Given the description of an element on the screen output the (x, y) to click on. 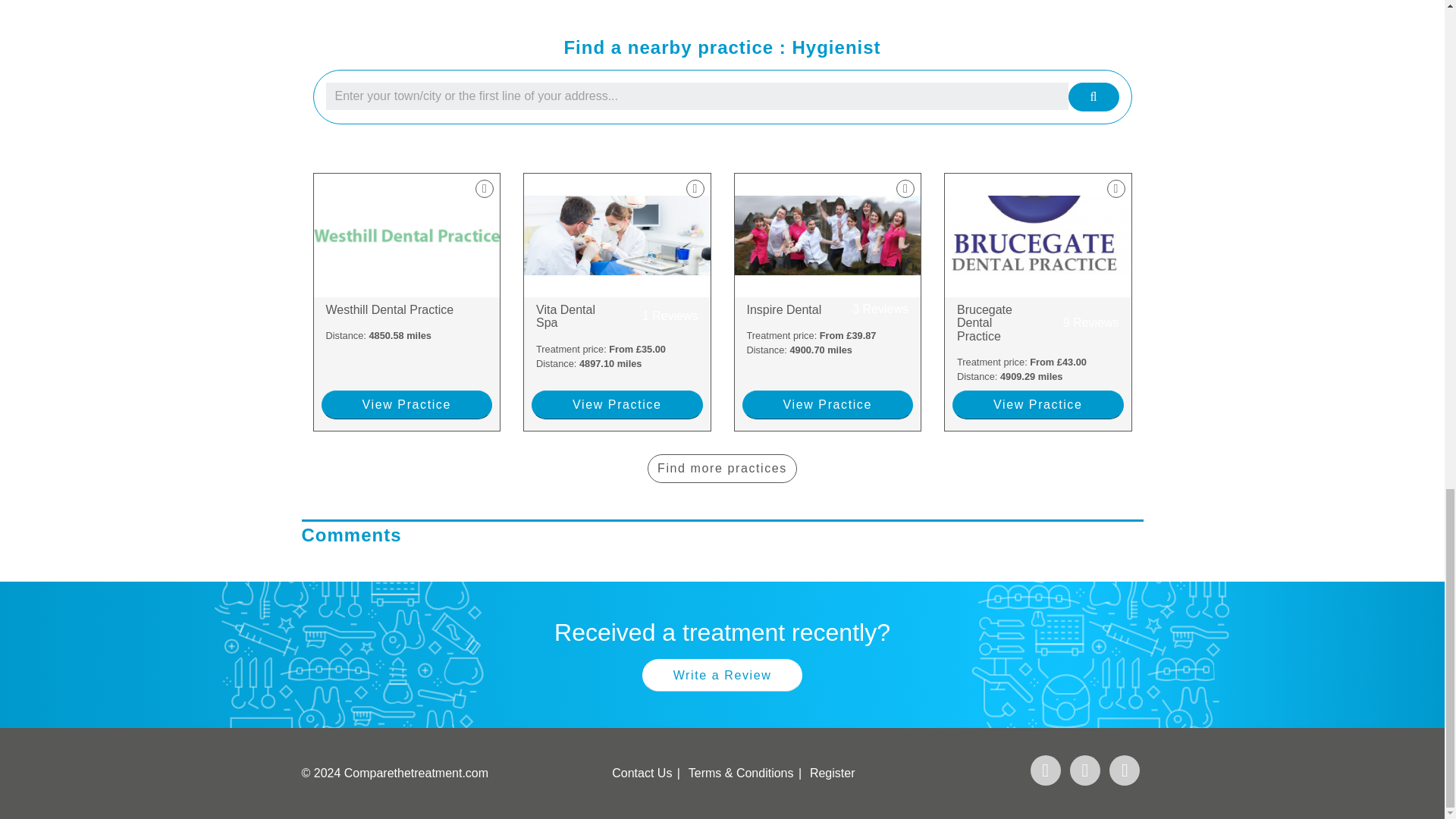
Westhill Dental Practice (407, 309)
View Practice (617, 316)
View Practice (826, 404)
View Practice (617, 404)
